Given the description of an element on the screen output the (x, y) to click on. 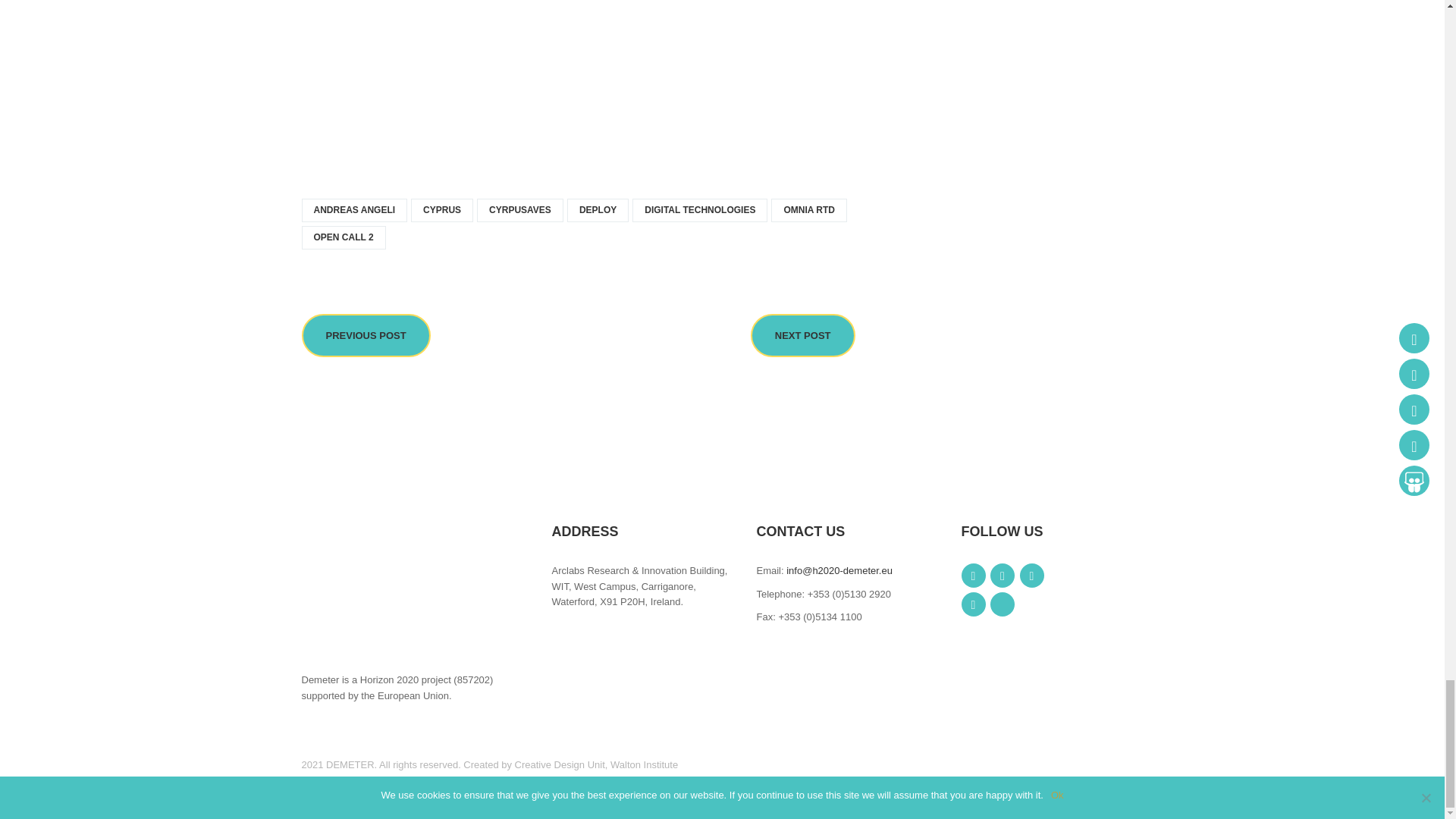
NEXT POST (803, 335)
LinkedIn (1031, 575)
Facebook (972, 575)
OMNIA RTD (809, 210)
Youtube (972, 604)
CYPRUS (441, 210)
OPEN CALL 2 (343, 237)
PREVIOUS POST (365, 335)
DIGITAL TECHNOLOGIES (699, 210)
ANDREAS ANGELI (354, 210)
CYRPUSAVES (520, 210)
Twitter (1002, 575)
DEPLOY (597, 210)
SlideShare (1002, 604)
